Given the description of an element on the screen output the (x, y) to click on. 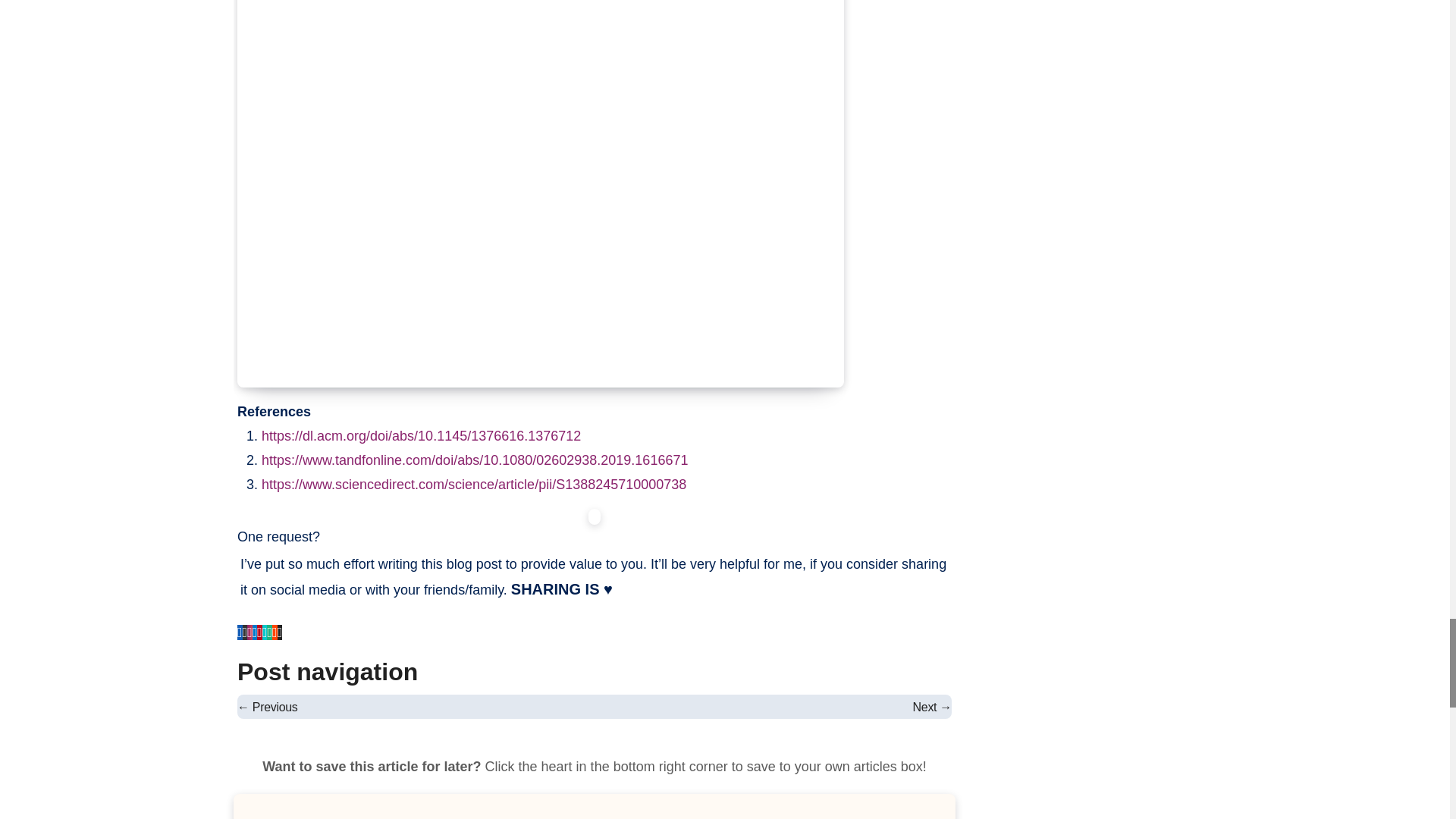
Like vs Crush: Difference and Comparison (267, 707)
Moleskine vs Leuchtturm: Difference and Comparison (932, 707)
